Given the description of an element on the screen output the (x, y) to click on. 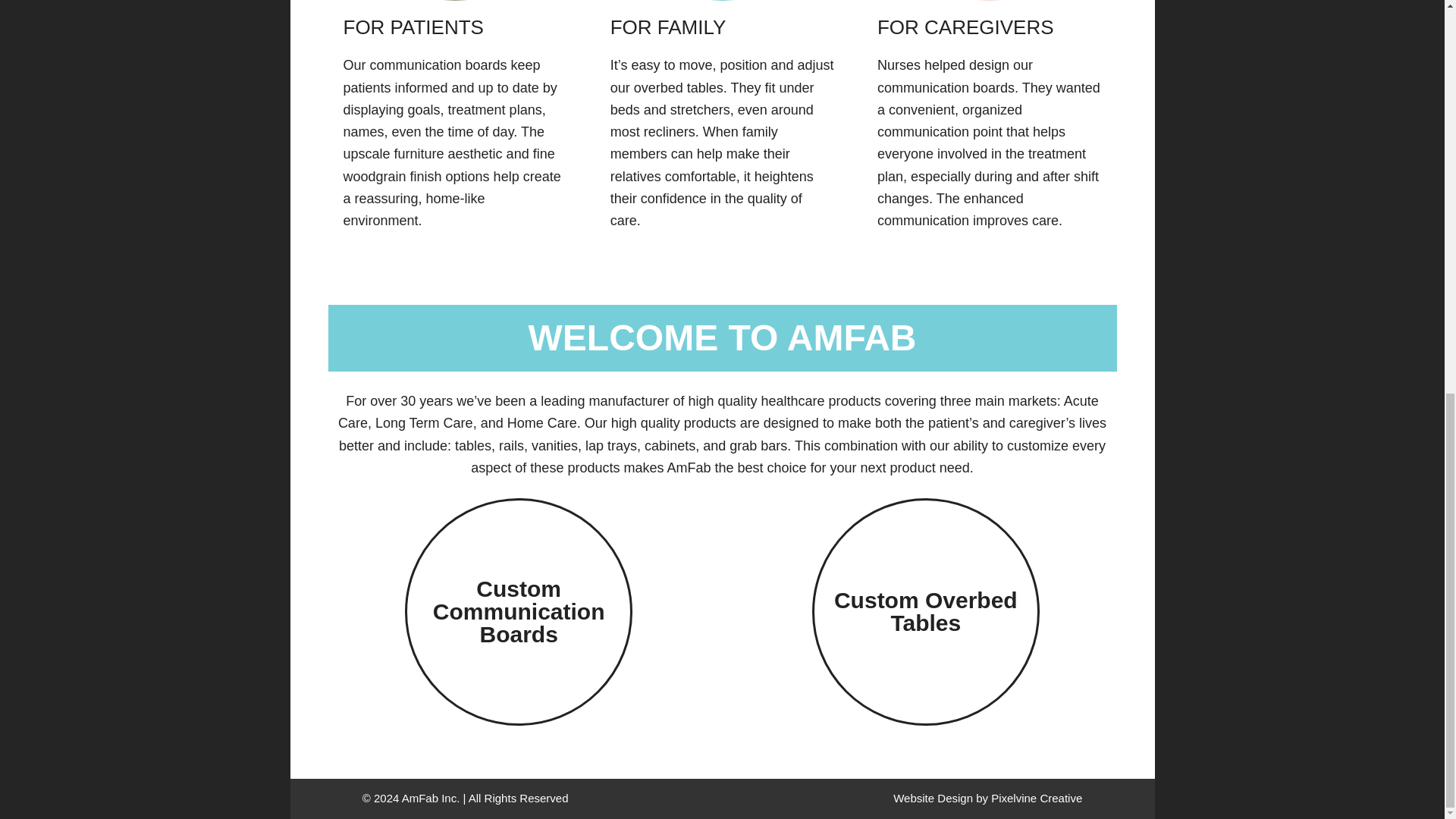
Website Design (932, 797)
West Michigan Web Design (932, 797)
Michigan Website Designer (1036, 797)
Pixelvine Creative (1036, 797)
